Given the description of an element on the screen output the (x, y) to click on. 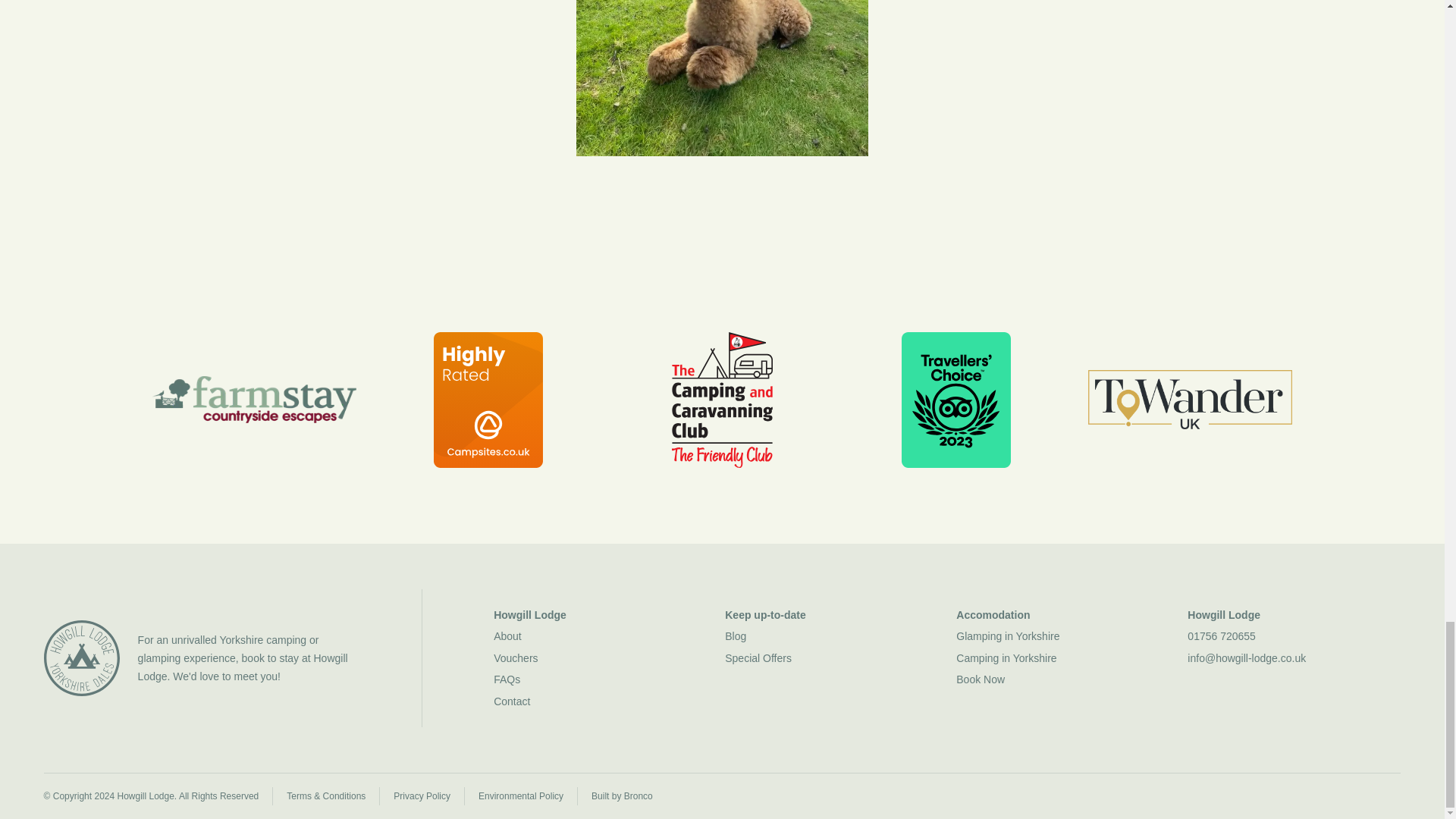
Book Now (1062, 679)
About (599, 636)
01756 720655 (1294, 636)
Contact (599, 700)
Glamping in Yorkshire (1062, 636)
Camping in Yorkshire (1062, 657)
Vouchers (599, 657)
FAQs (599, 679)
Blog (831, 636)
Special Offers (831, 657)
